Given the description of an element on the screen output the (x, y) to click on. 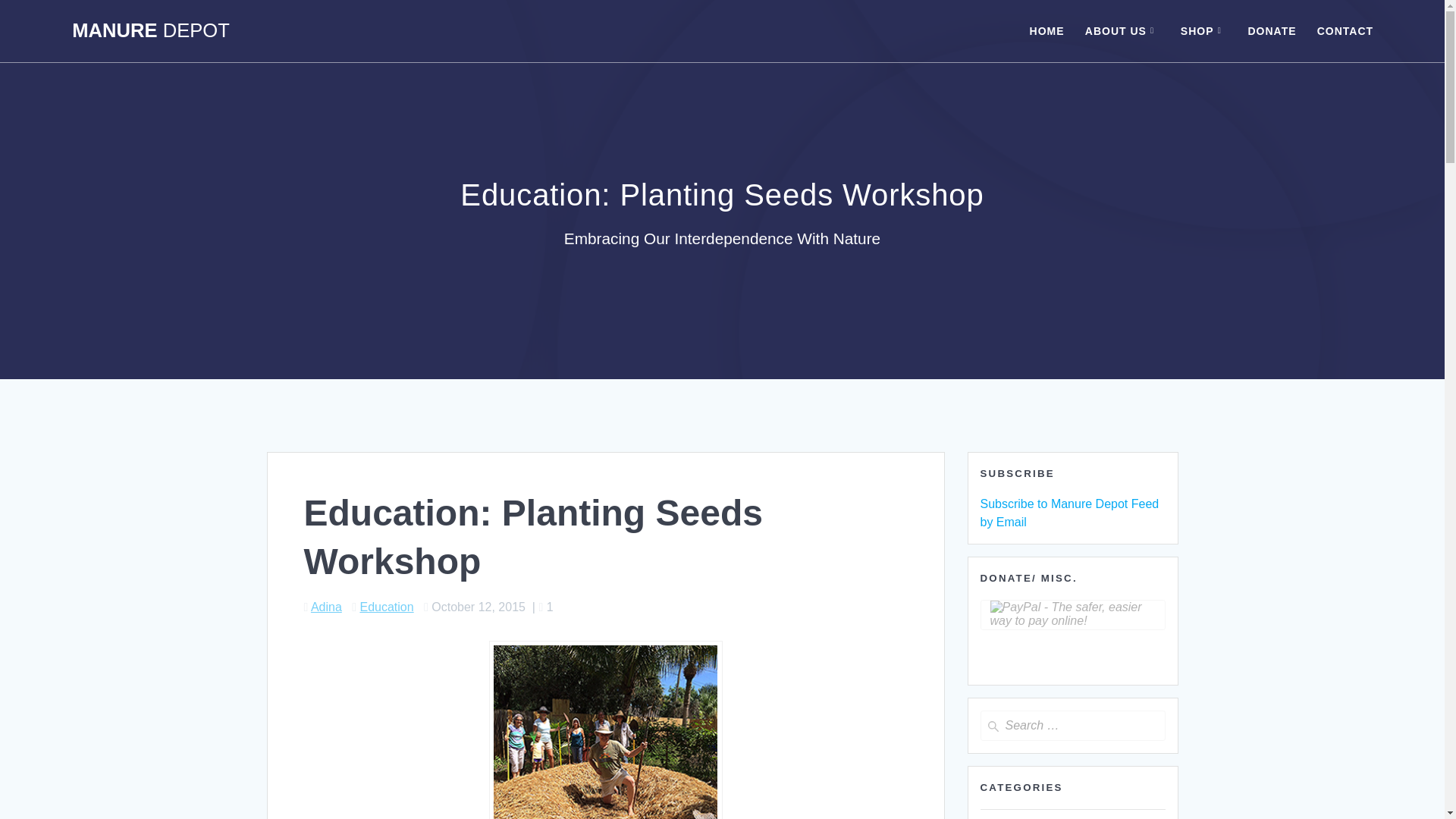
Posts by Adina (326, 606)
CONTACT (1345, 30)
Adina (326, 606)
Education (386, 606)
MANURE DEPOT (150, 30)
Subscribe to Manure Depot Feed by Email (1068, 512)
DONATE (1271, 30)
HOME (1046, 30)
SHOP (1203, 30)
